Given the description of an element on the screen output the (x, y) to click on. 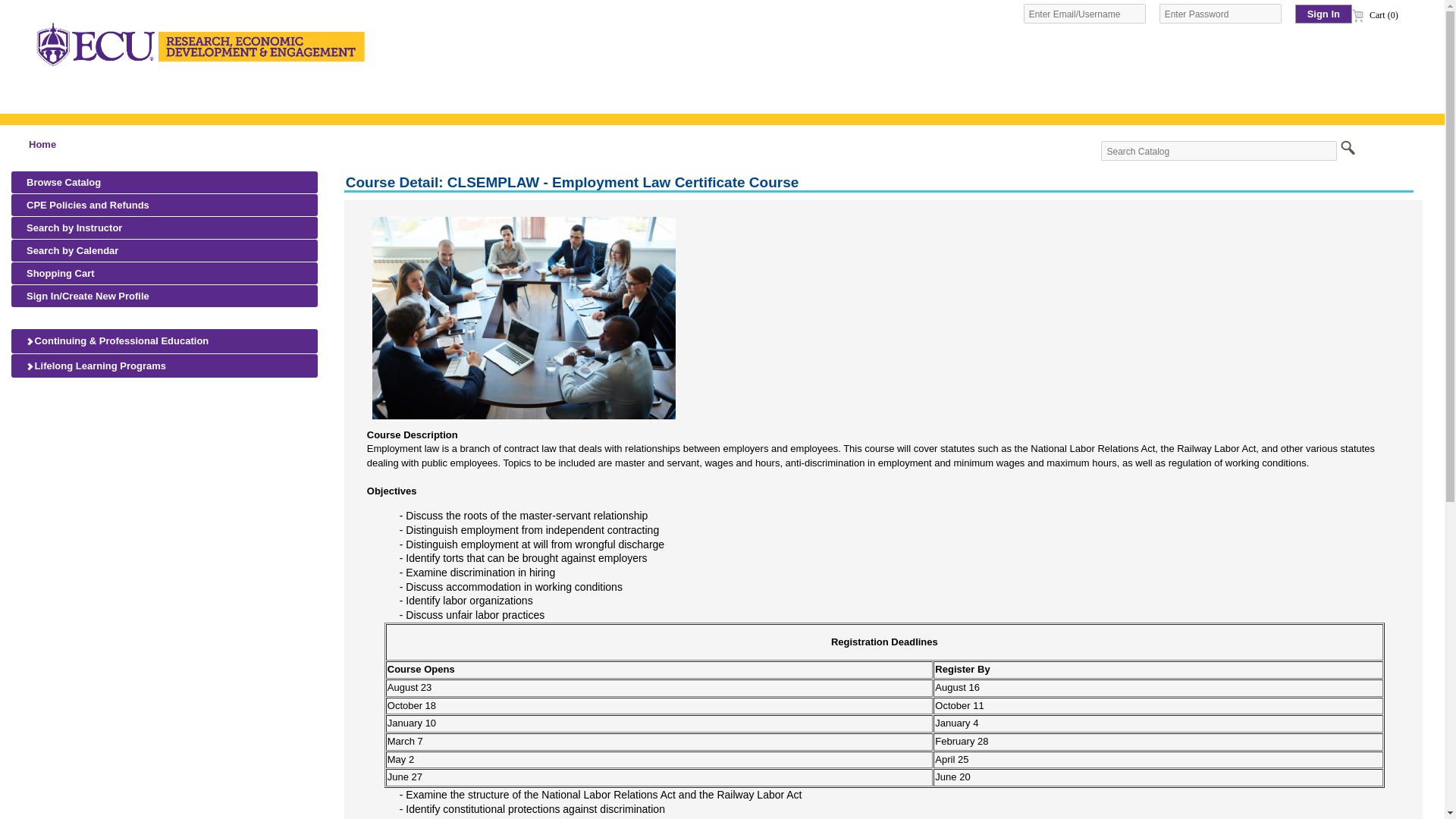
Search Catalog (1218, 150)
Browse Catalog (164, 182)
Enter Password (1219, 13)
Shopping Cart (164, 273)
Sign In (1323, 13)
Home (42, 144)
CPE Policies and Refunds (164, 205)
Lifelong Learning Programs (164, 365)
Sign In (1323, 13)
Search by Instructor (164, 228)
